Given the description of an element on the screen output the (x, y) to click on. 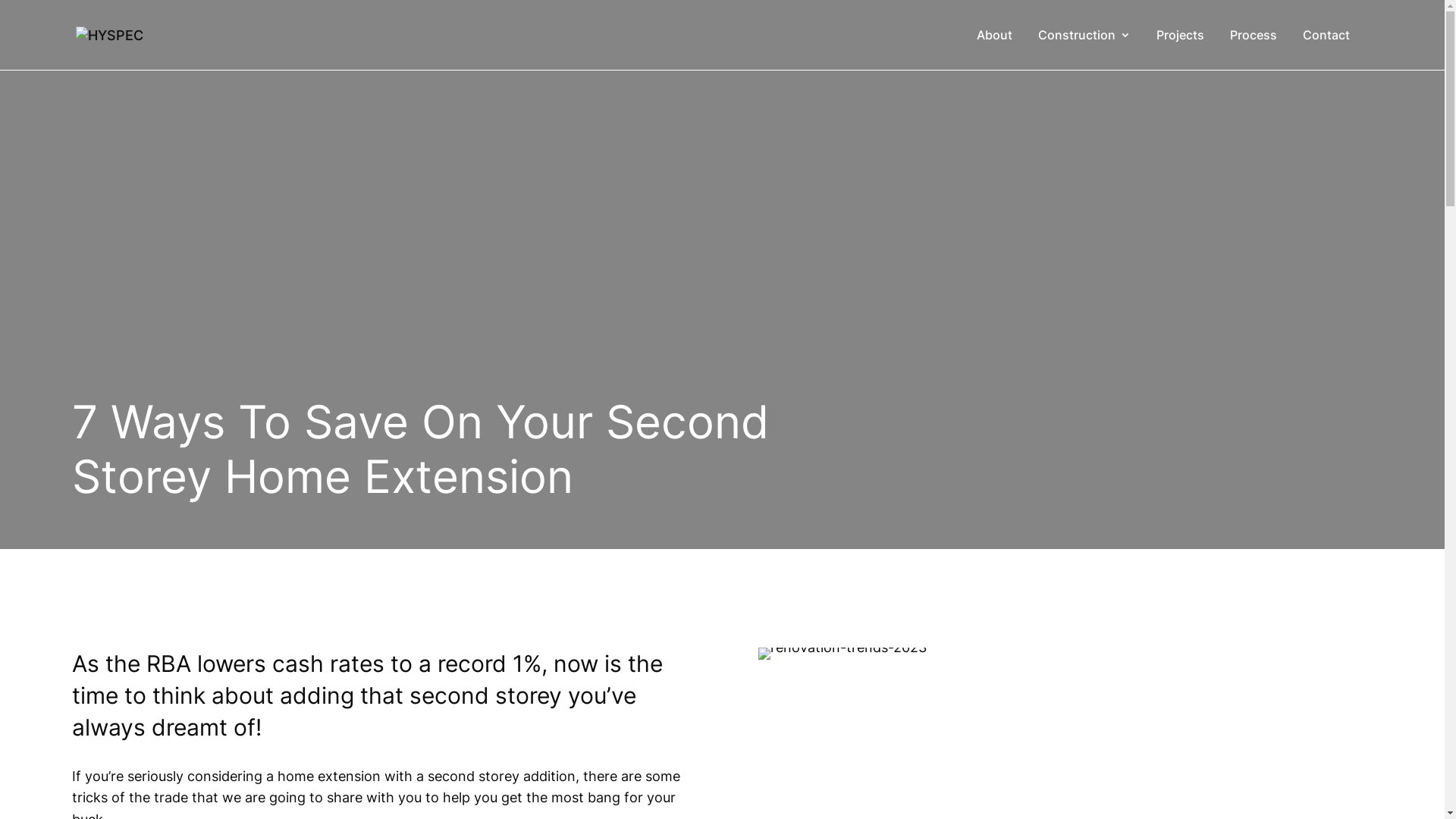
Projects Element type: text (1180, 48)
Construction Element type: text (1084, 48)
Process Element type: text (1253, 48)
Contact Element type: text (1325, 48)
renovation-trends-2023 Element type: hover (842, 647)
About Element type: text (994, 48)
